Given the description of an element on the screen output the (x, y) to click on. 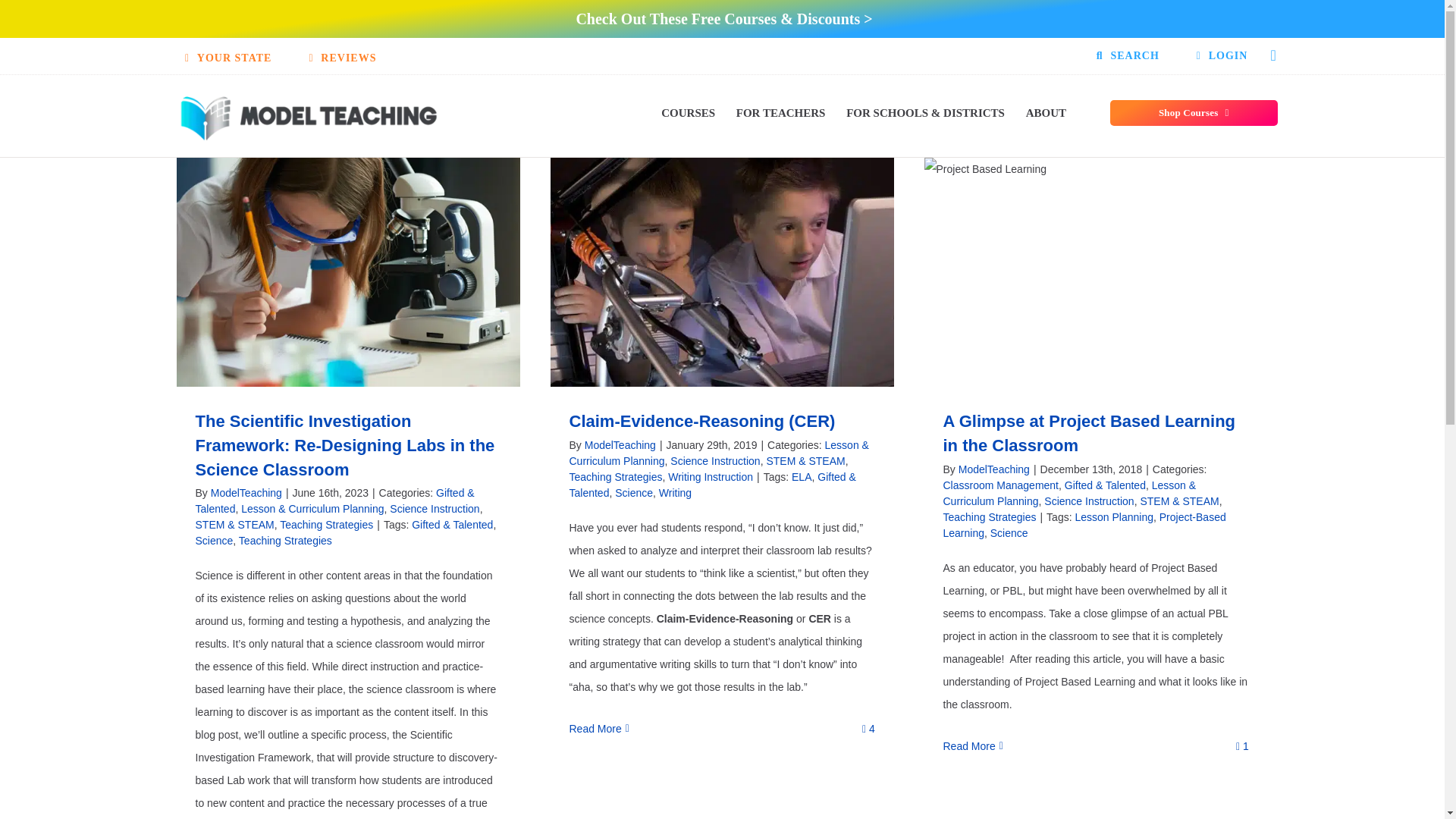
Posts by ModelTeaching (246, 492)
Posts by ModelTeaching (620, 444)
FOR TEACHERS (780, 112)
SEARCH (1124, 55)
Posts by ModelTeaching (993, 469)
LOGIN (1222, 55)
Courses (687, 112)
REVIEWS (338, 58)
YOUR STATE (224, 58)
COURSES (687, 112)
For Teachers (780, 112)
About (1045, 112)
